Given the description of an element on the screen output the (x, y) to click on. 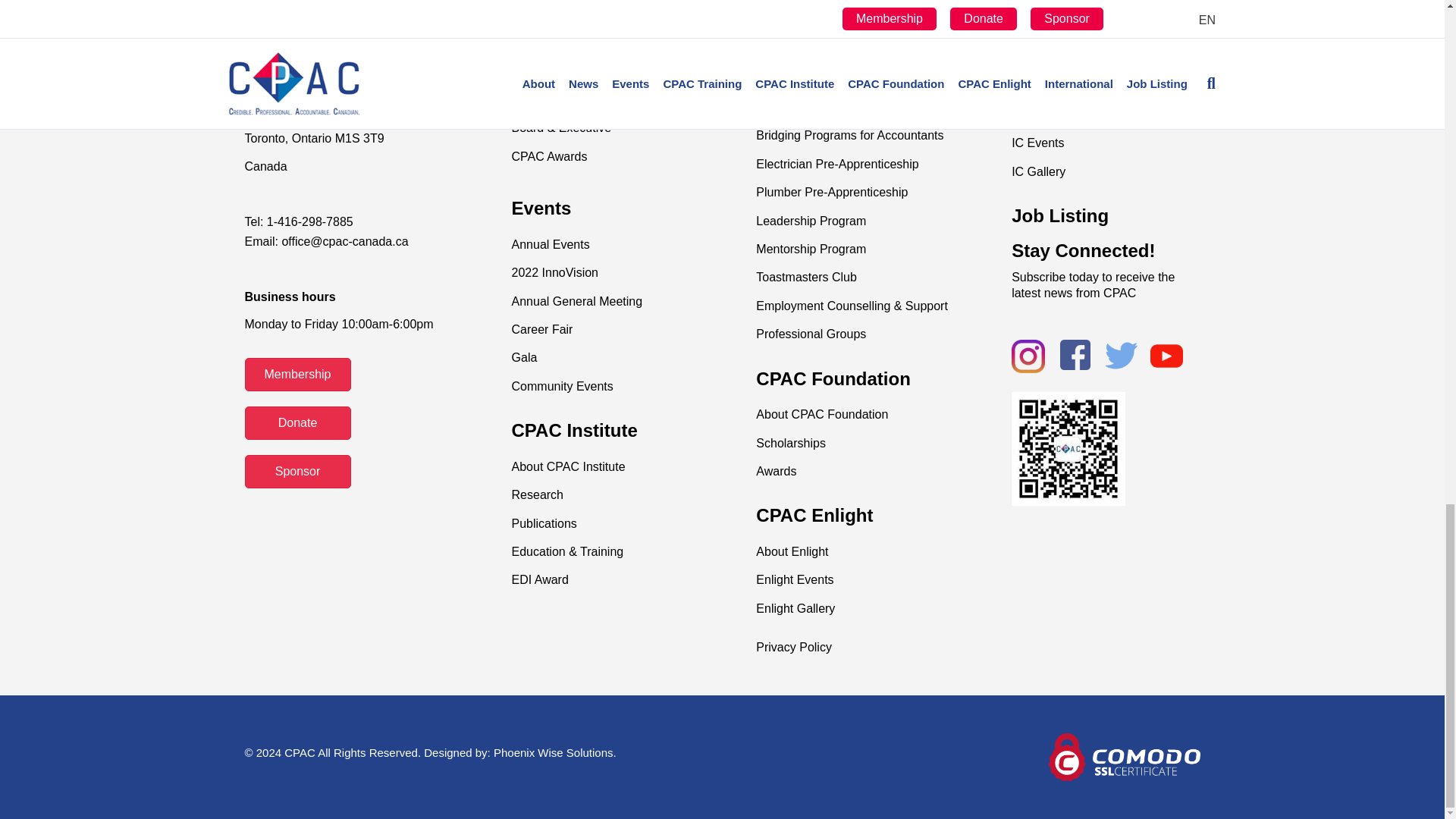
CPAC New Wechat Qrcode (1068, 449)
twitter (1121, 355)
comodo-700-white (1123, 757)
facebook (1074, 354)
instagram (1028, 356)
youtube (1166, 355)
